Given the description of an element on the screen output the (x, y) to click on. 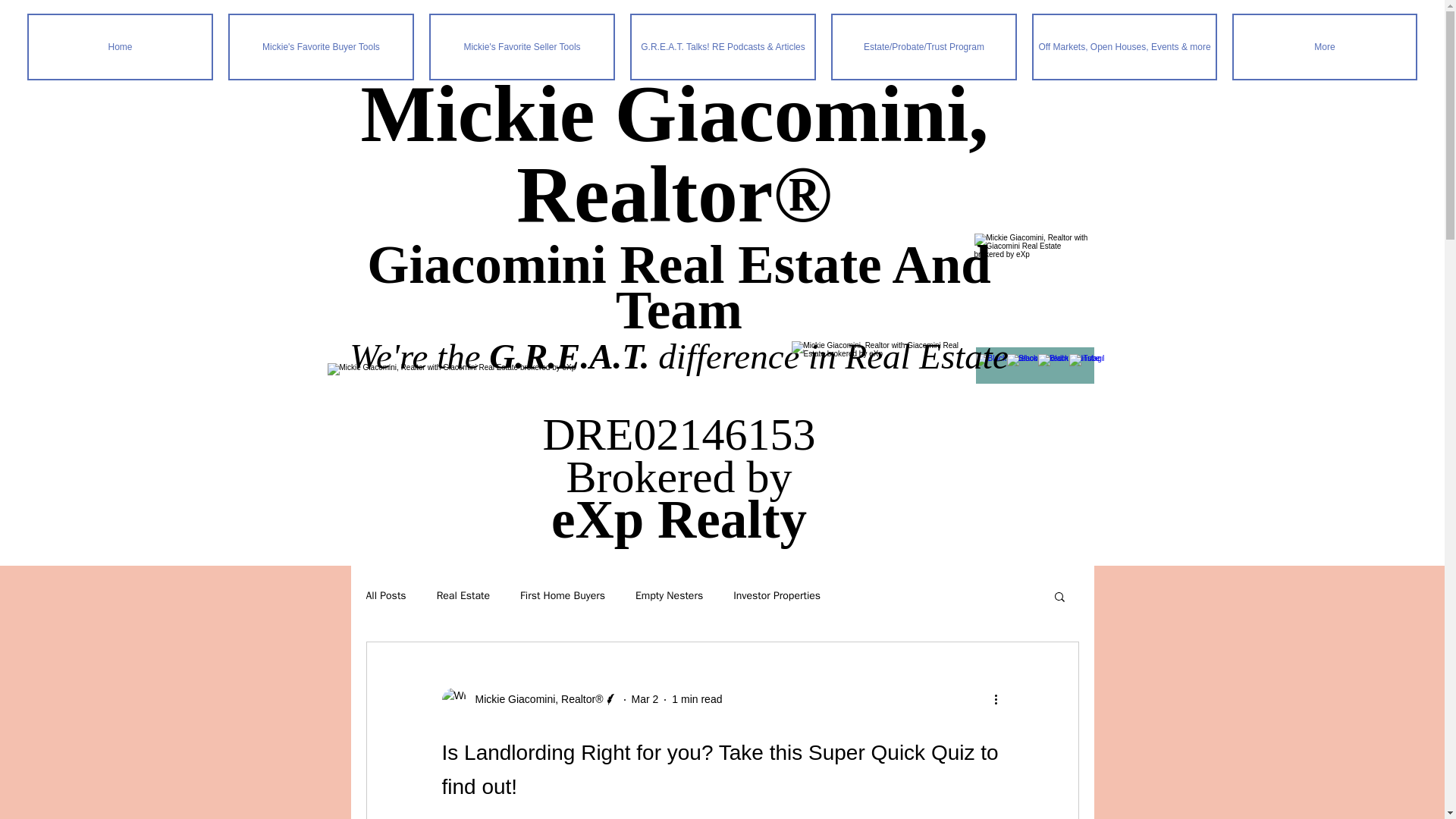
Mickie's Favorite Seller Tools (521, 46)
1 min read (696, 698)
Mar 2 (645, 698)
Home (119, 46)
Mickie's Favorite Buyer Tools (320, 46)
